Given the description of an element on the screen output the (x, y) to click on. 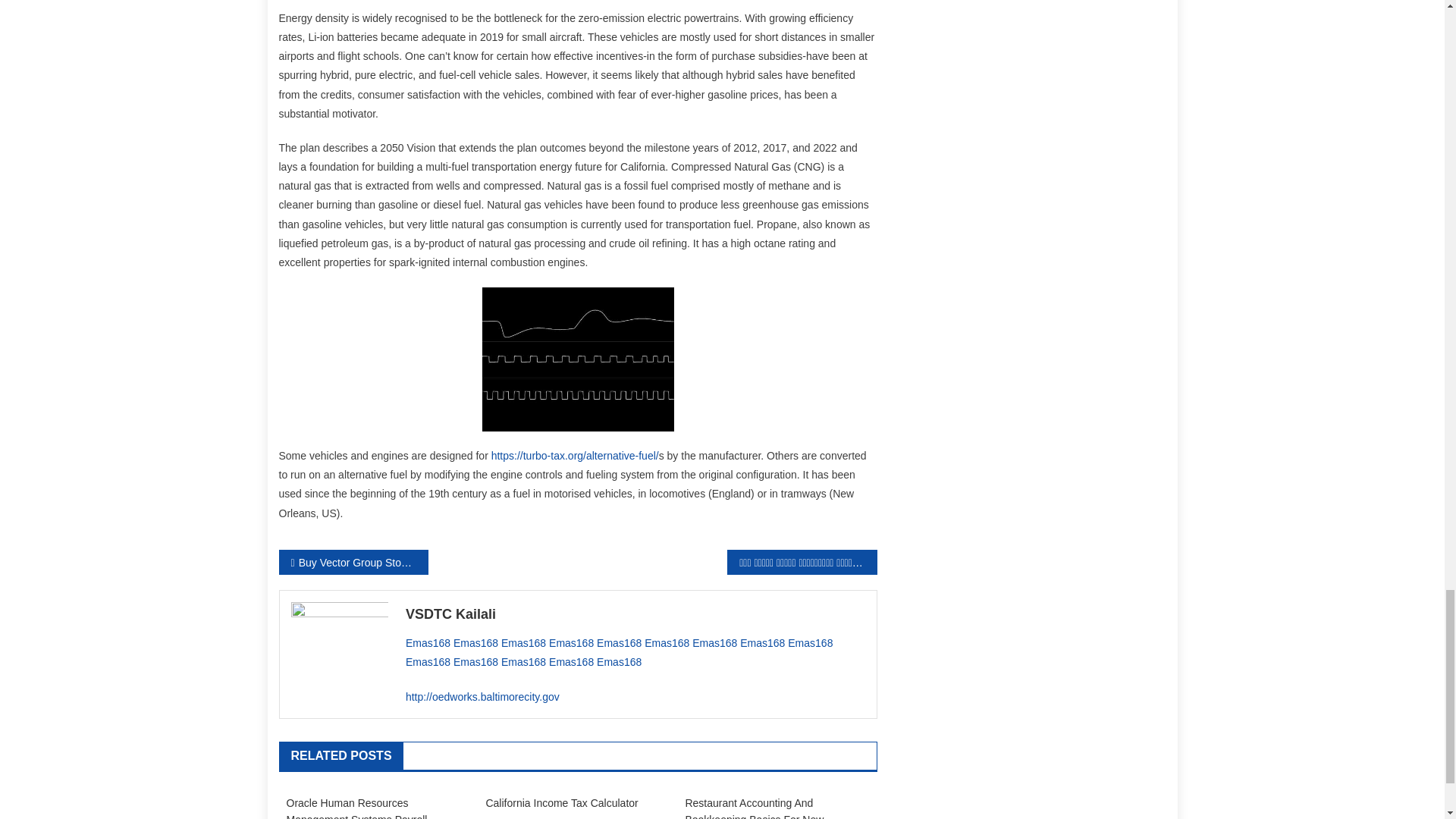
Emas168 (474, 643)
Emas168 (523, 643)
Emas168 (571, 643)
Emas168 (427, 643)
Emas168 (619, 643)
Emas168 (666, 643)
VSDTC Kailali (635, 613)
Emas168 (714, 643)
